Given the description of an element on the screen output the (x, y) to click on. 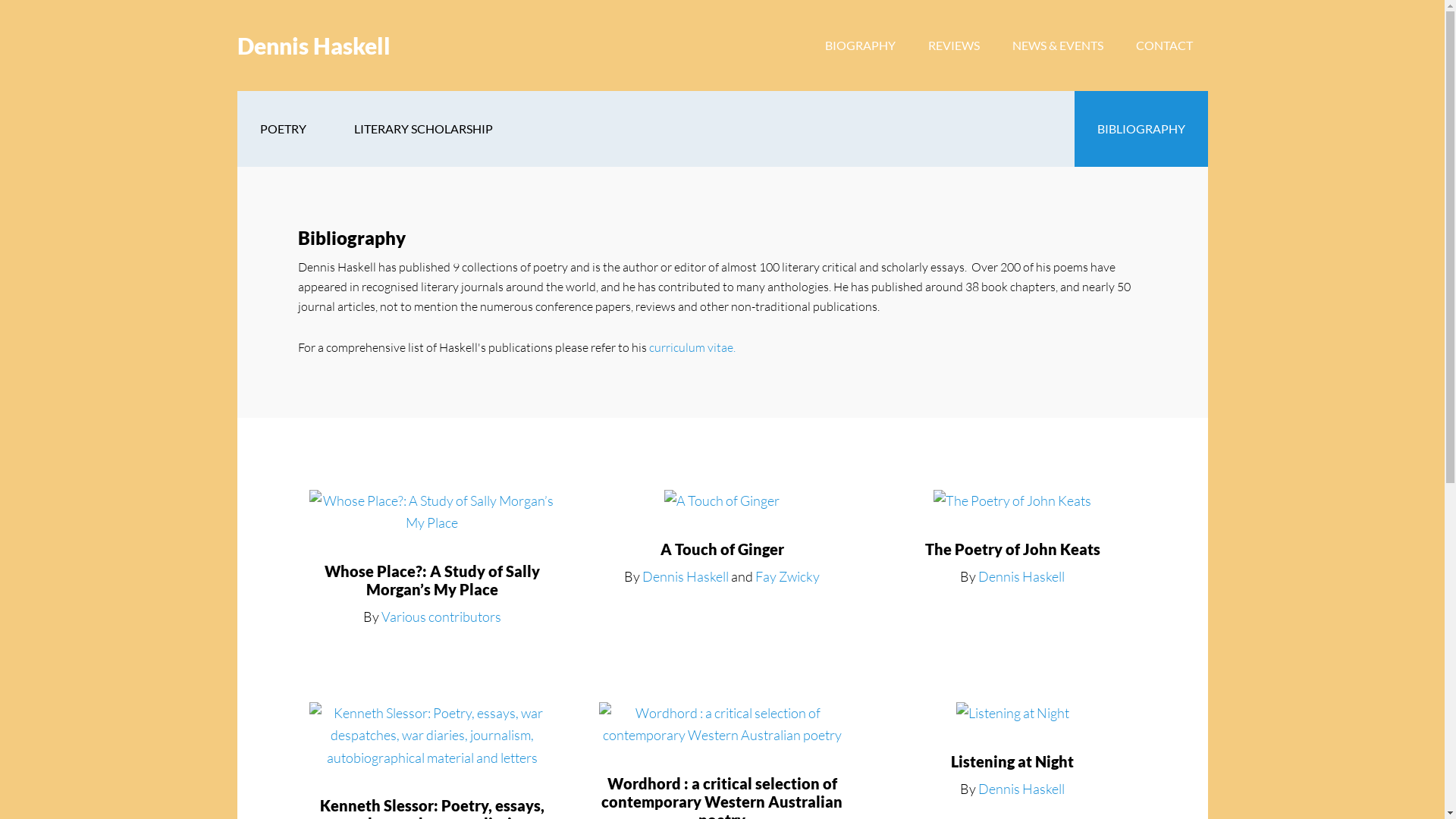
LITERARY SCHOLARSHIP Element type: text (422, 128)
The Poetry of John Keats Element type: text (1012, 548)
REVIEWS Element type: text (953, 45)
CONTACT Element type: text (1164, 45)
Listening at Night Element type: text (1011, 761)
Skip to main content Element type: text (0, 0)
Dennis Haskell Element type: text (312, 45)
Fay Zwicky Element type: text (787, 575)
Various contributors Element type: text (441, 616)
Dennis Haskell Element type: text (1021, 788)
BIOGRAPHY Element type: text (859, 45)
A Touch of Ginger Element type: text (722, 548)
Dennis Haskell Element type: text (1021, 575)
Dennis Haskell Element type: text (685, 575)
POETRY Element type: text (282, 128)
NEWS & EVENTS Element type: text (1056, 45)
curriculum vitae. Element type: text (692, 346)
BIBLIOGRAPHY Element type: text (1140, 128)
